Given the description of an element on the screen output the (x, y) to click on. 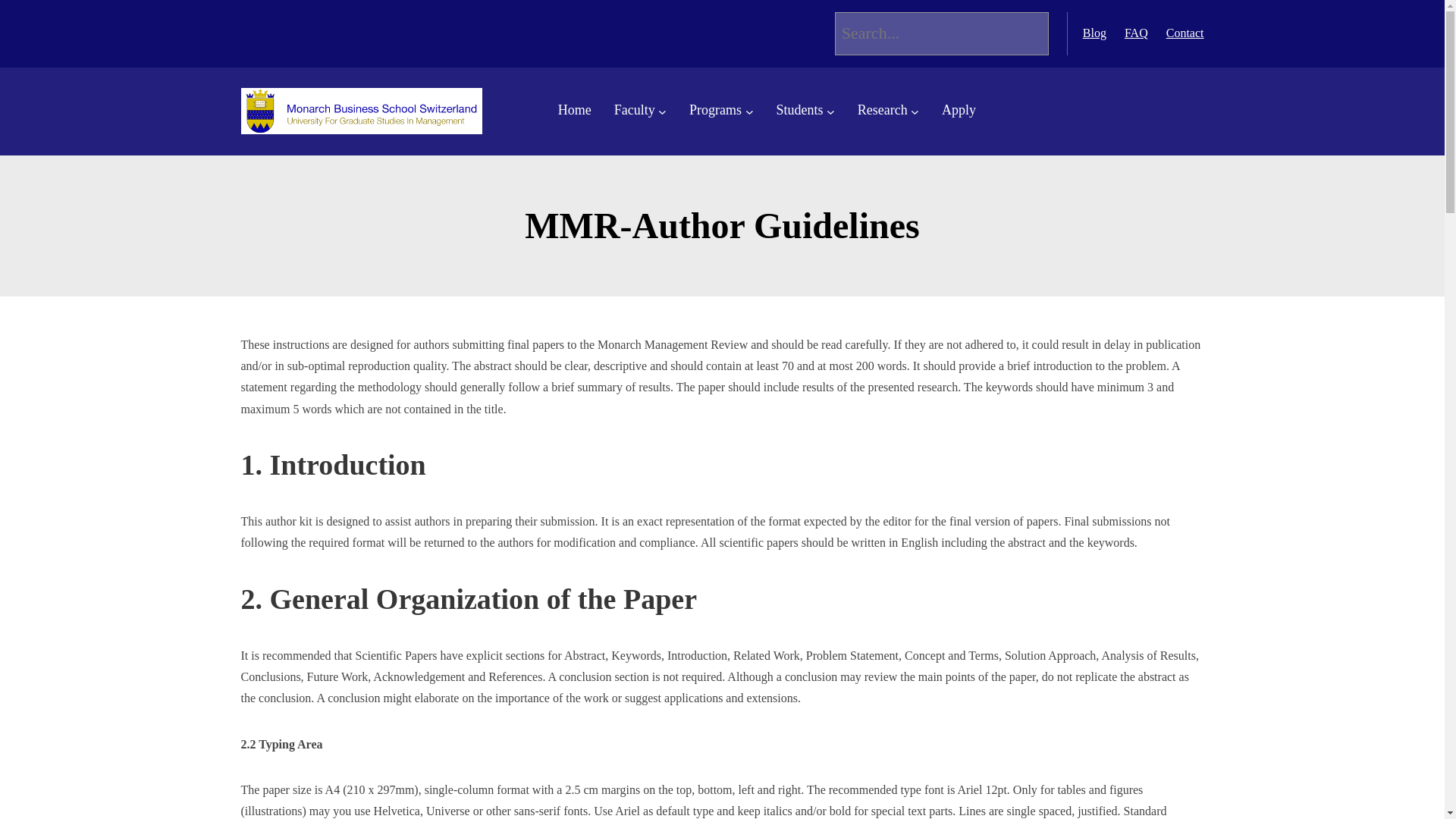
Faculty (634, 110)
Students (799, 110)
Contact (1185, 32)
Apply (958, 110)
Home (574, 110)
FAQ (1136, 32)
Programs (714, 110)
Research (882, 110)
Blog (1094, 32)
